Given the description of an element on the screen output the (x, y) to click on. 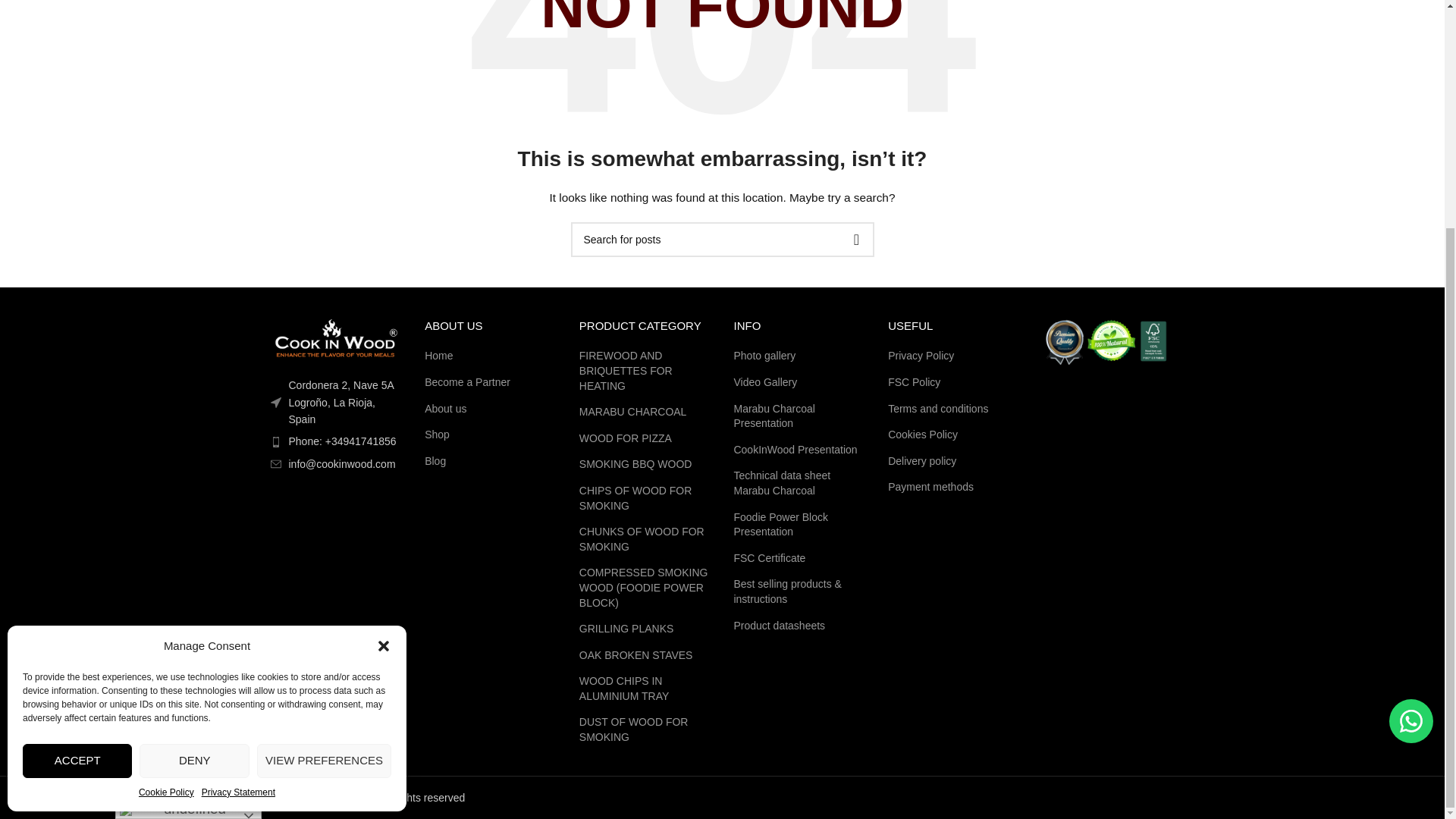
ACCEPT (77, 454)
undefined (188, 503)
Cookie Policy (165, 486)
DENY (193, 454)
Privacy Statement (238, 486)
VIEW PREFERENCES (324, 454)
